Given the description of an element on the screen output the (x, y) to click on. 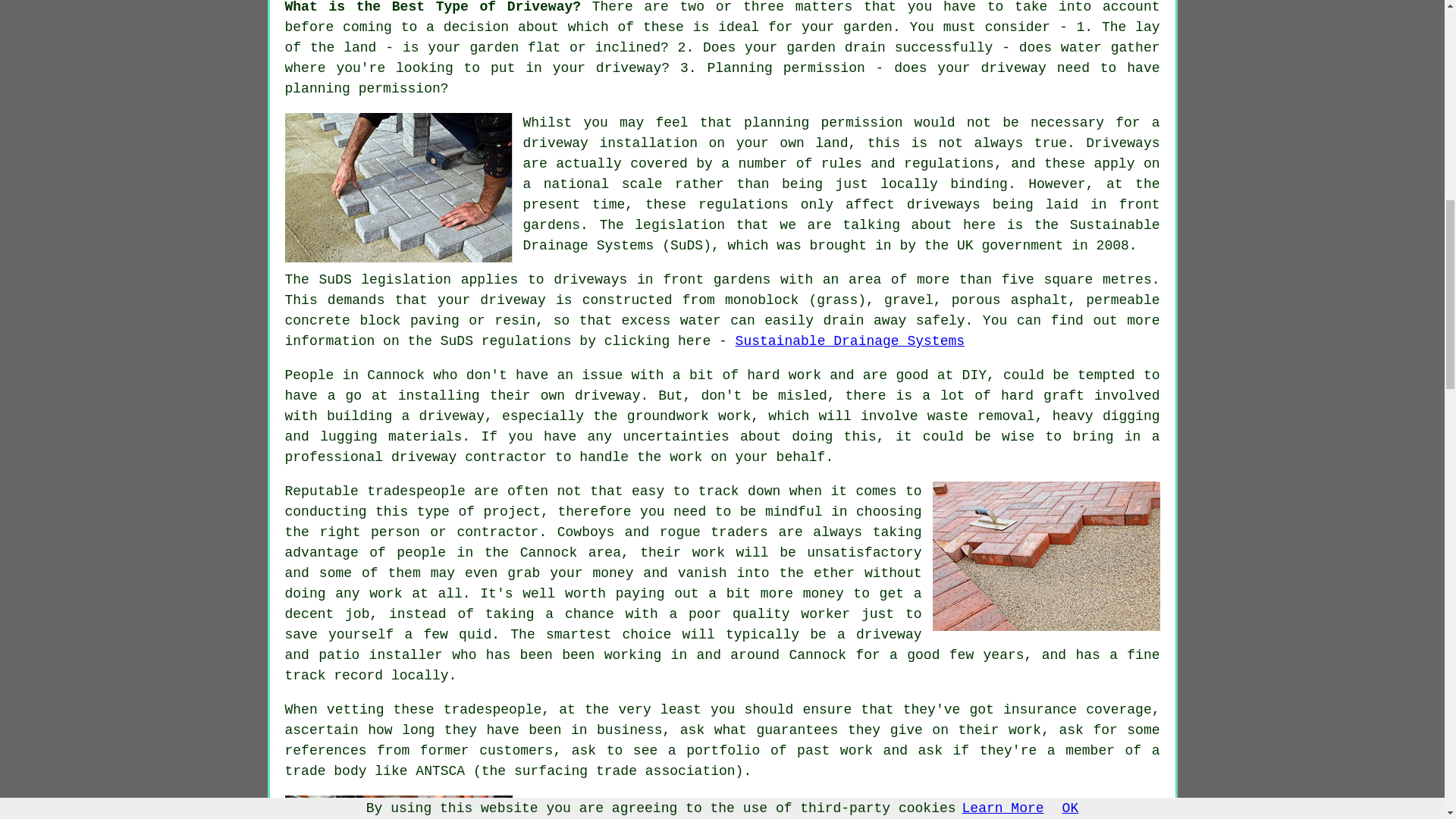
Driveway Pavers Cannock UK (398, 187)
Driveway Services Cannock (1046, 555)
planning permission (363, 88)
